Given the description of an element on the screen output the (x, y) to click on. 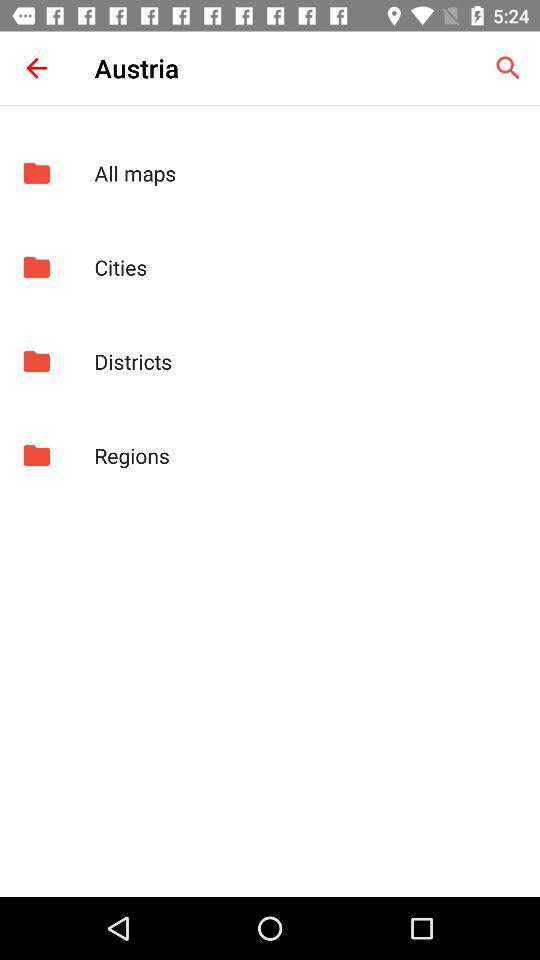
choose the app above districts app (306, 267)
